Given the description of an element on the screen output the (x, y) to click on. 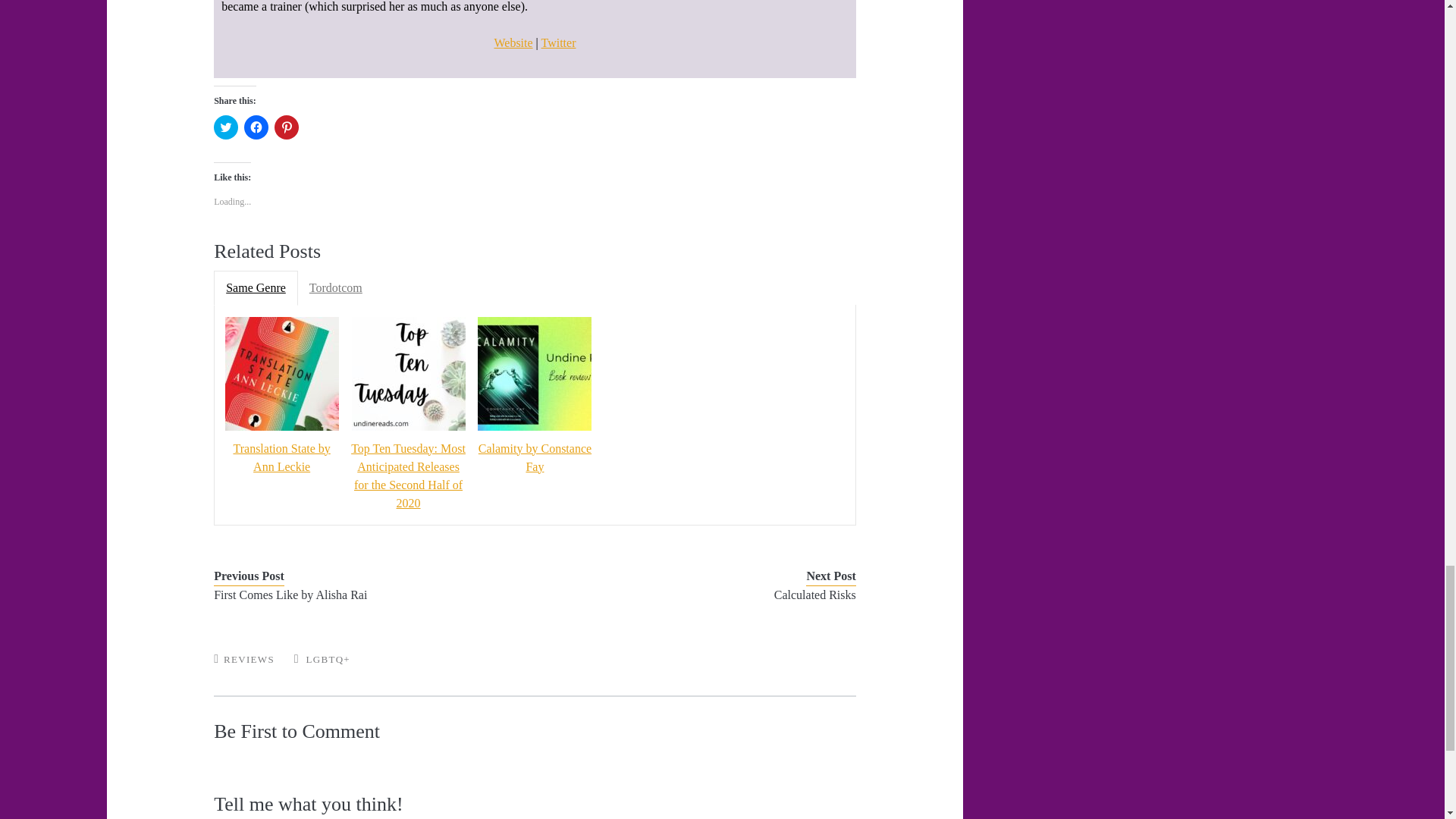
Click to share on Facebook (255, 127)
Click to share on Pinterest (286, 127)
Website (512, 42)
Click to share on Twitter (226, 127)
Twitter (558, 42)
View all posts in Reviews (249, 659)
